Given the description of an element on the screen output the (x, y) to click on. 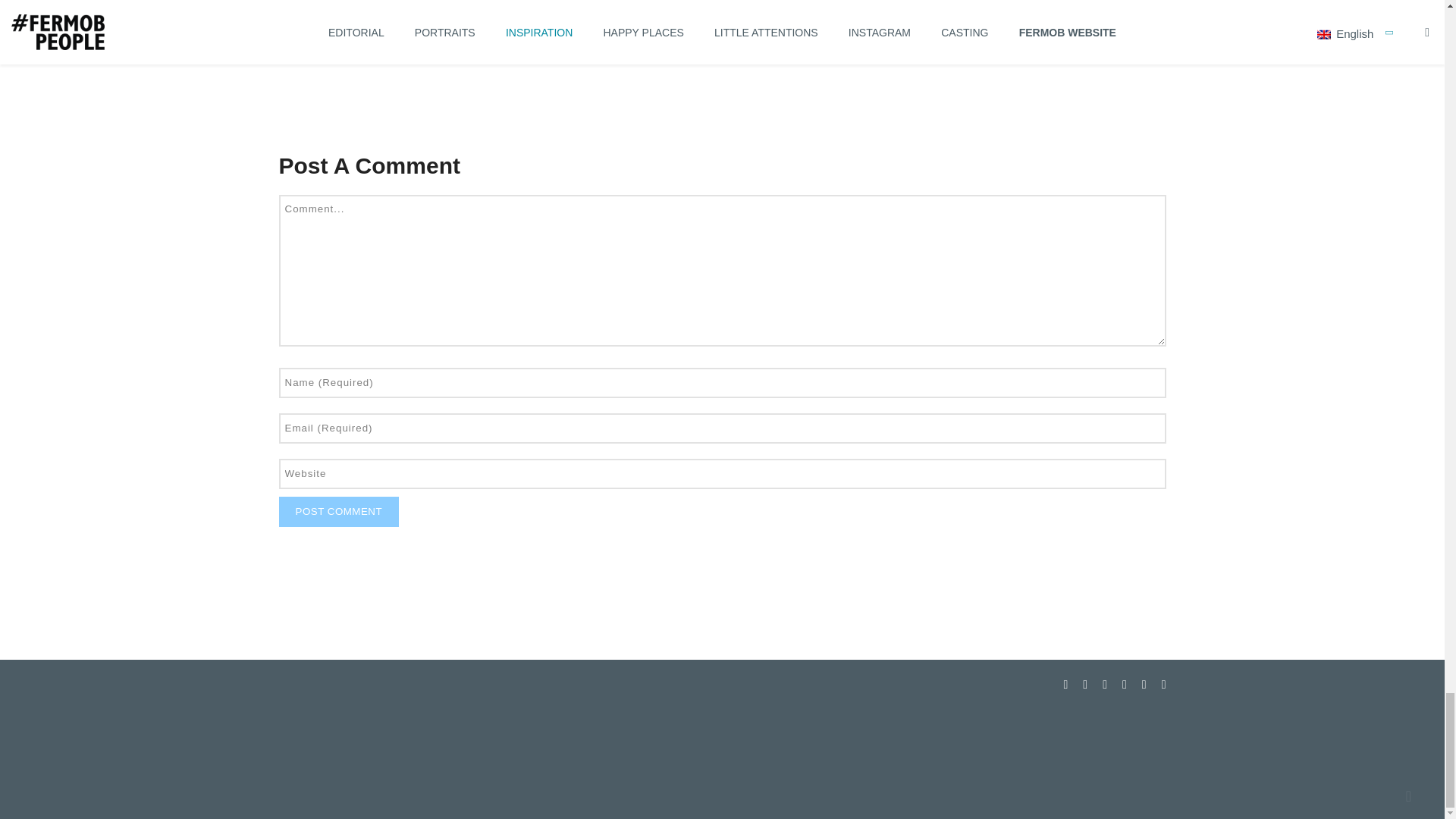
Facebook (1065, 684)
Vimeo (1144, 684)
Instagram (1084, 684)
Post Comment (338, 511)
Pinterest (1124, 684)
LinkedIn (1104, 684)
